Given the description of an element on the screen output the (x, y) to click on. 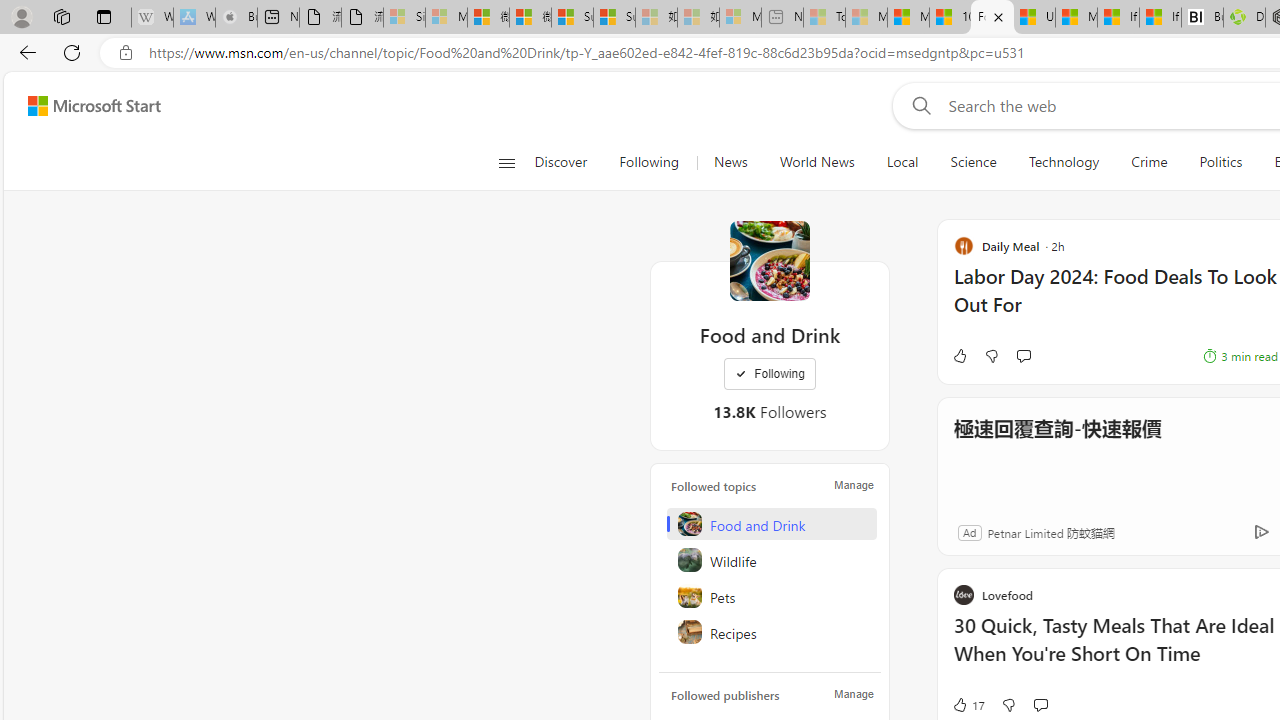
Food and Drink (769, 260)
Like (959, 355)
Politics (1220, 162)
Buy iPad - Apple - Sleeping (236, 17)
Technology (1064, 162)
Top Stories - MSN - Sleeping (823, 17)
